Given the description of an element on the screen output the (x, y) to click on. 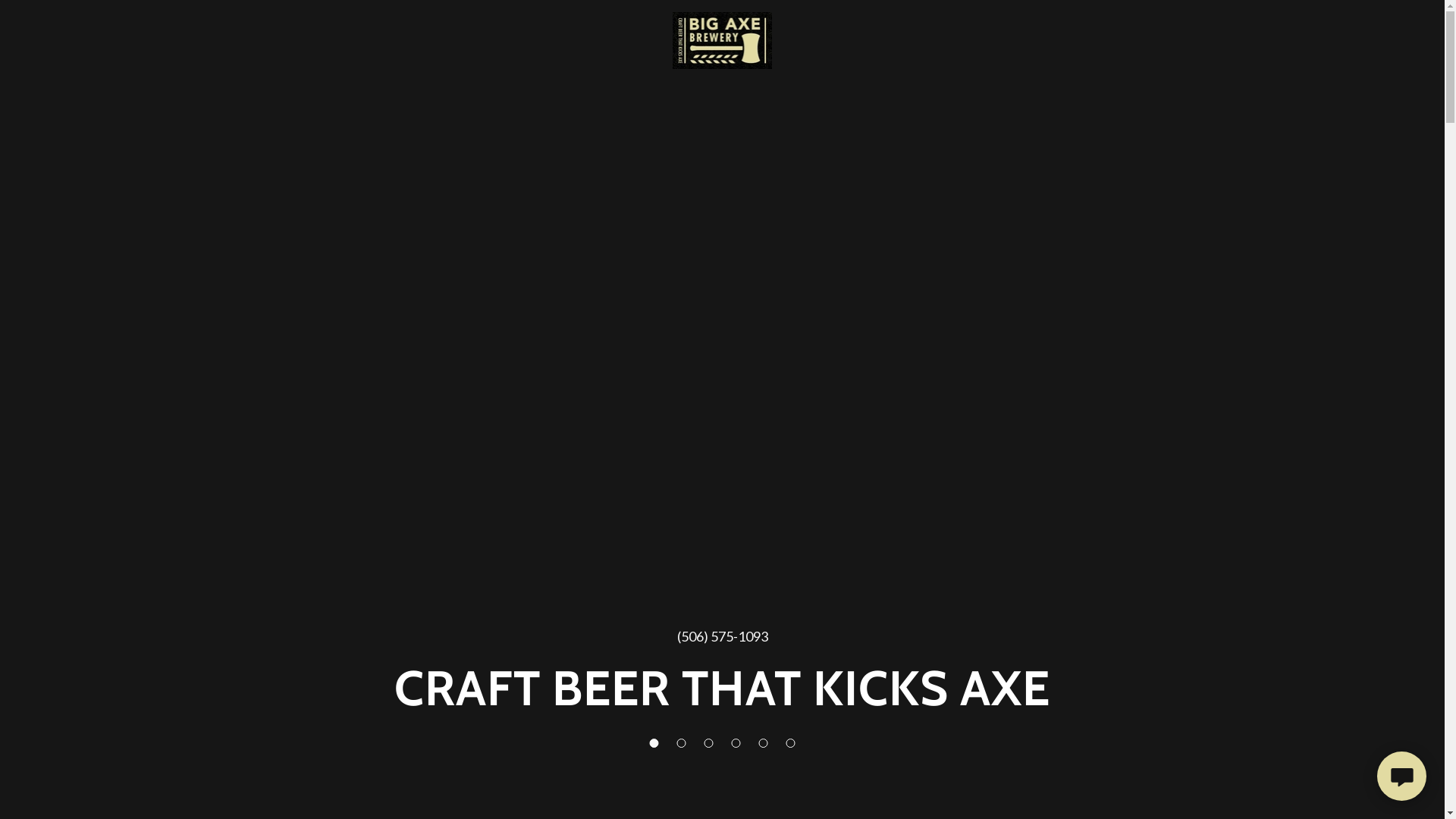
Big Axe Brewery Element type: hover (722, 38)
(506) 575-1093 Element type: text (721, 635)
